Given the description of an element on the screen output the (x, y) to click on. 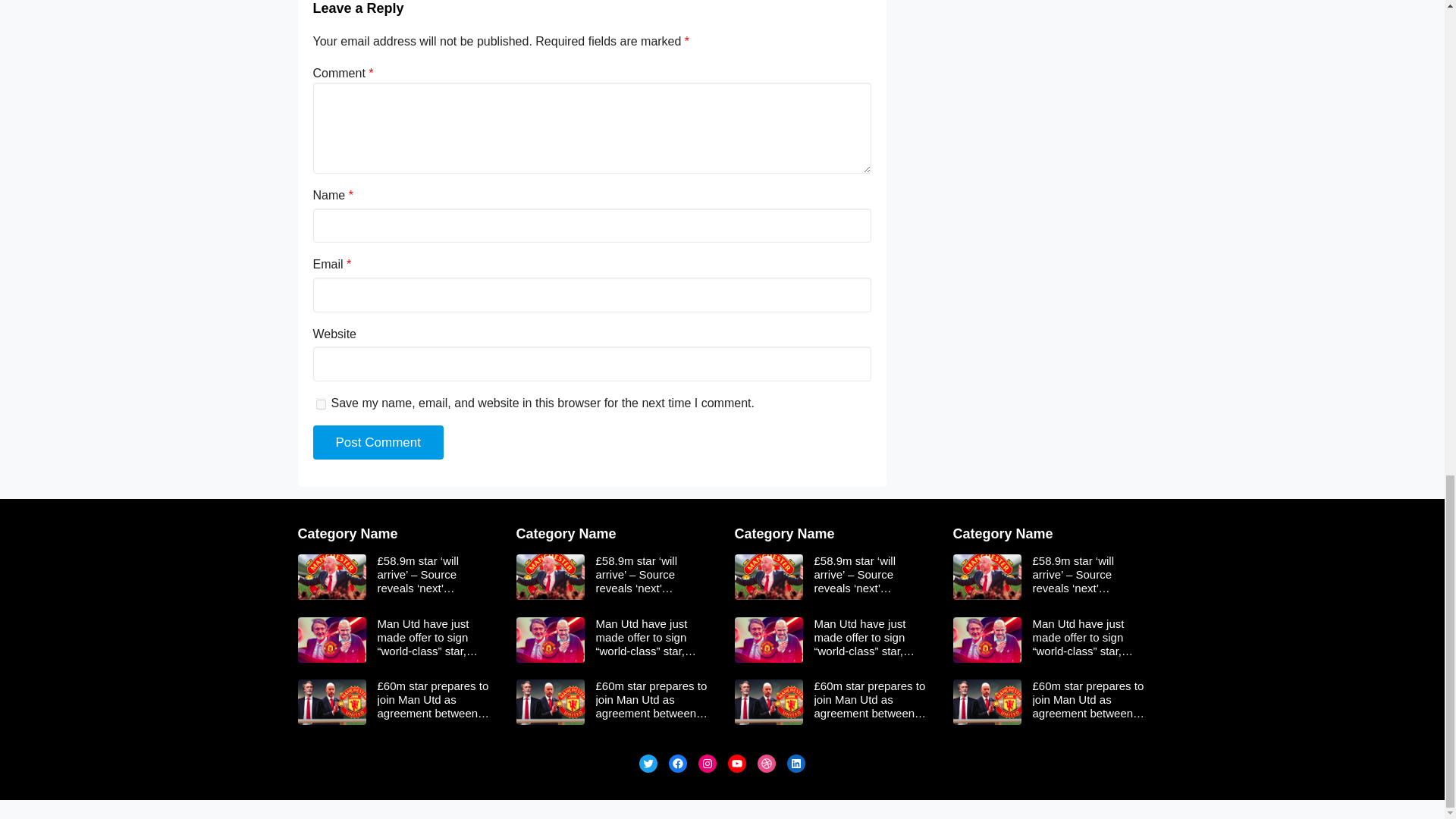
Dribbble (766, 763)
Category Name (347, 533)
Instagram (707, 763)
YouTube (736, 763)
Category Name (783, 533)
Category Name (565, 533)
Category Name (1002, 533)
Twitter (648, 763)
Post Comment (377, 442)
Facebook (677, 763)
Post Comment (377, 442)
